Given the description of an element on the screen output the (x, y) to click on. 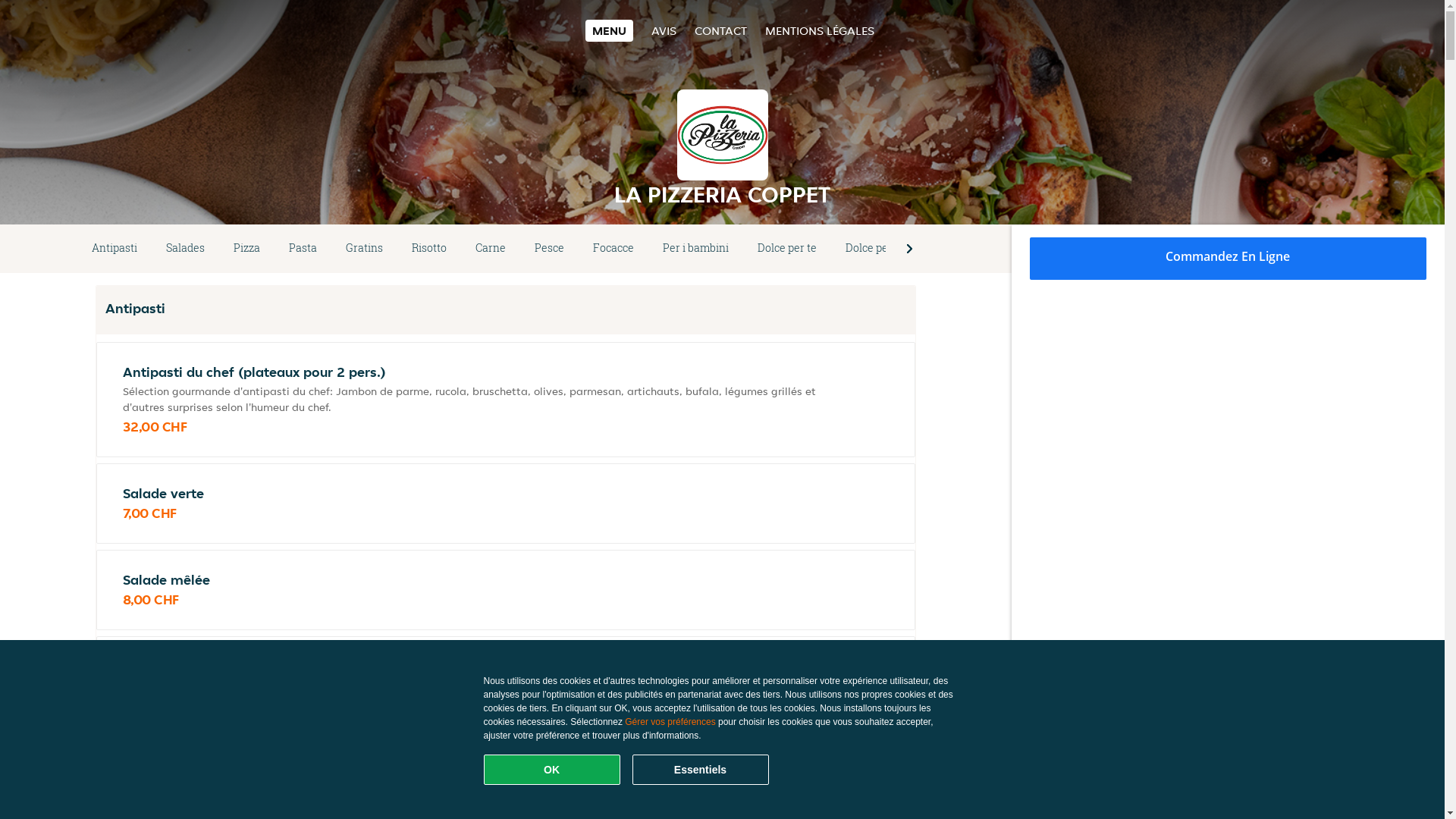
Carne Element type: text (490, 248)
Dolce per te Element type: text (787, 248)
MENU Element type: text (609, 30)
OK Element type: text (551, 769)
Commandez En Ligne Element type: text (1228, 258)
Per i bambini Element type: text (695, 248)
Salades Element type: text (185, 248)
Pizza Element type: text (246, 248)
Antipasti Element type: text (114, 248)
Dolce per due Element type: text (879, 248)
Pesce Element type: text (549, 248)
CONTACT Element type: text (720, 30)
Risotto Element type: text (429, 248)
Salade verte
7,00 CHF Element type: text (505, 503)
Focacce Element type: text (613, 248)
Essentiels Element type: text (700, 769)
AVIS Element type: text (663, 30)
Pasta Element type: text (302, 248)
Gratins Element type: text (364, 248)
